Given the description of an element on the screen output the (x, y) to click on. 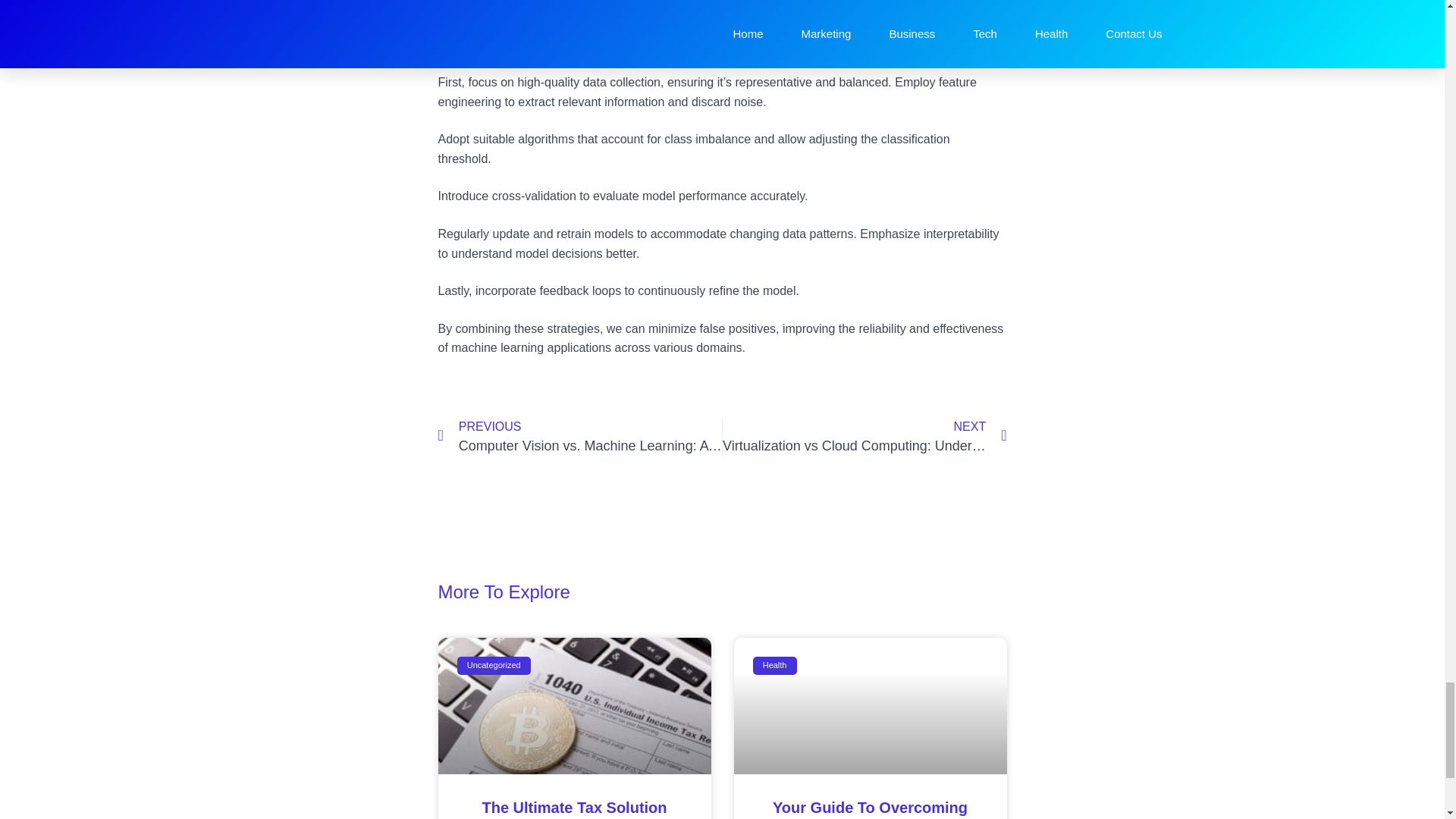
The Ultimate Tax Solution With Crypto IRAs! (573, 809)
